Given the description of an element on the screen output the (x, y) to click on. 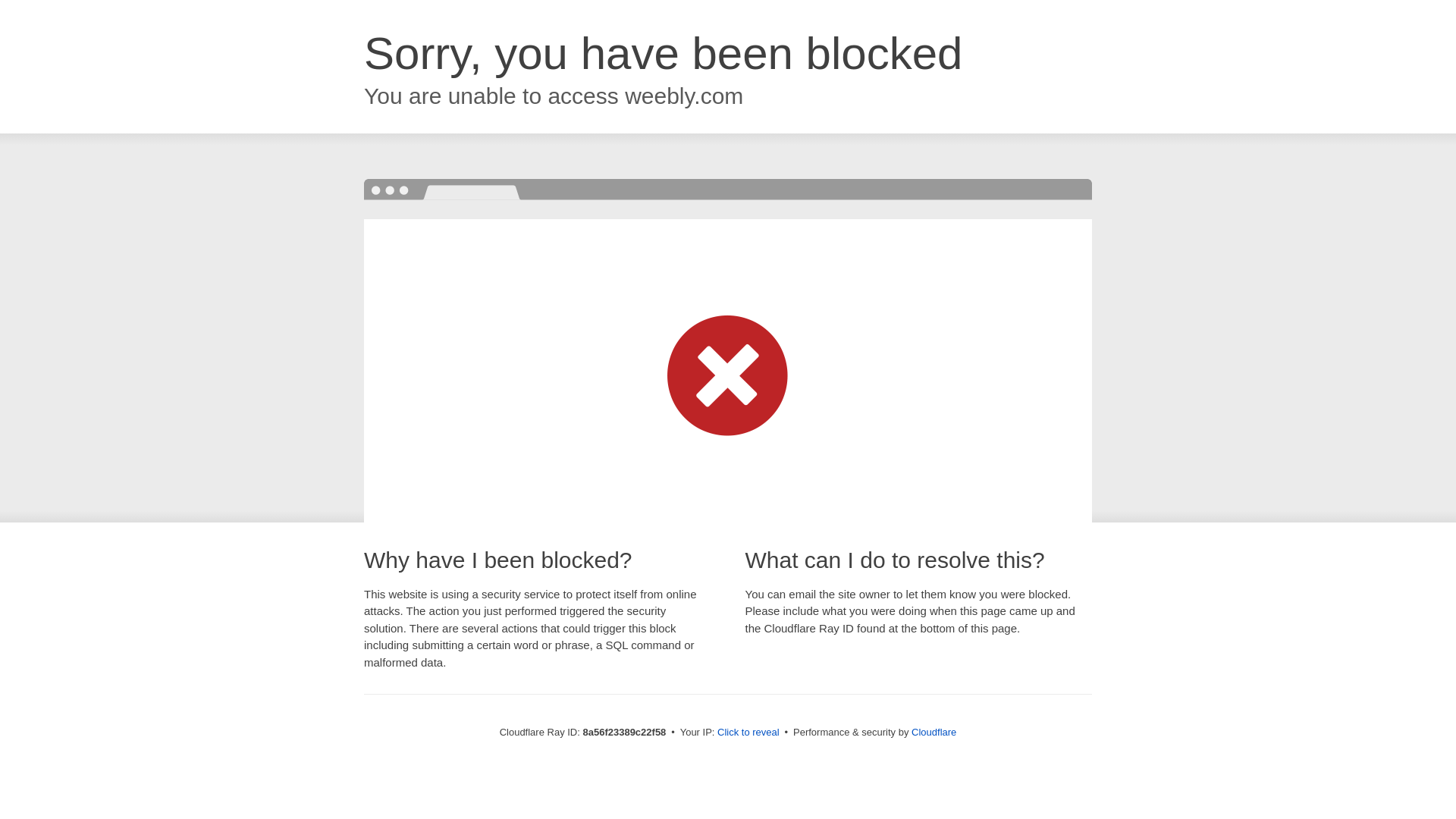
Cloudflare (933, 731)
Click to reveal (747, 732)
